Given the description of an element on the screen output the (x, y) to click on. 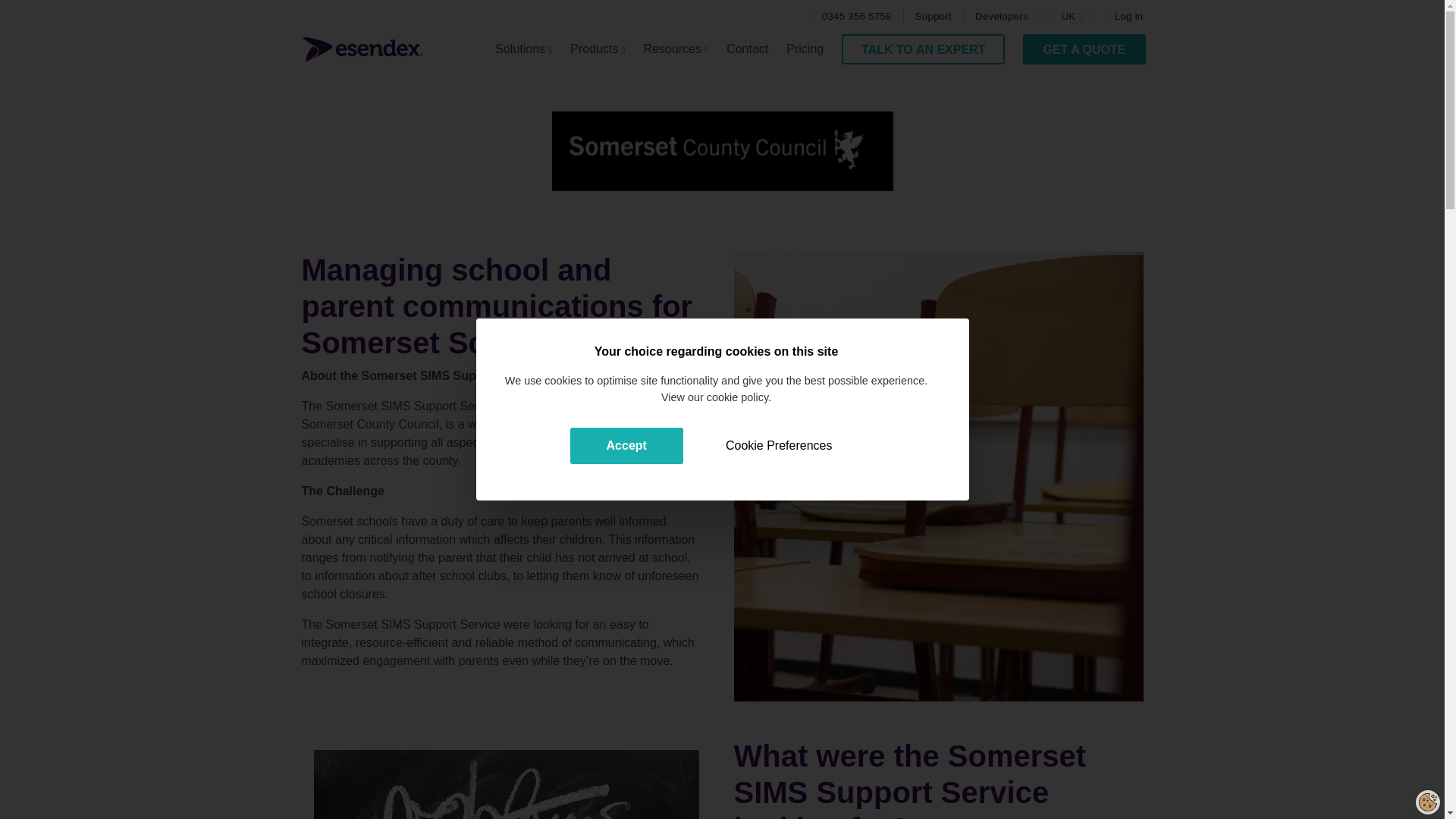
UK (1070, 16)
Developers (1001, 16)
0345 356 5758 (851, 16)
cookie policy (737, 397)
Cookie Preferences (778, 445)
Accept (626, 445)
Log in (1123, 16)
Support (933, 16)
